Given the description of an element on the screen output the (x, y) to click on. 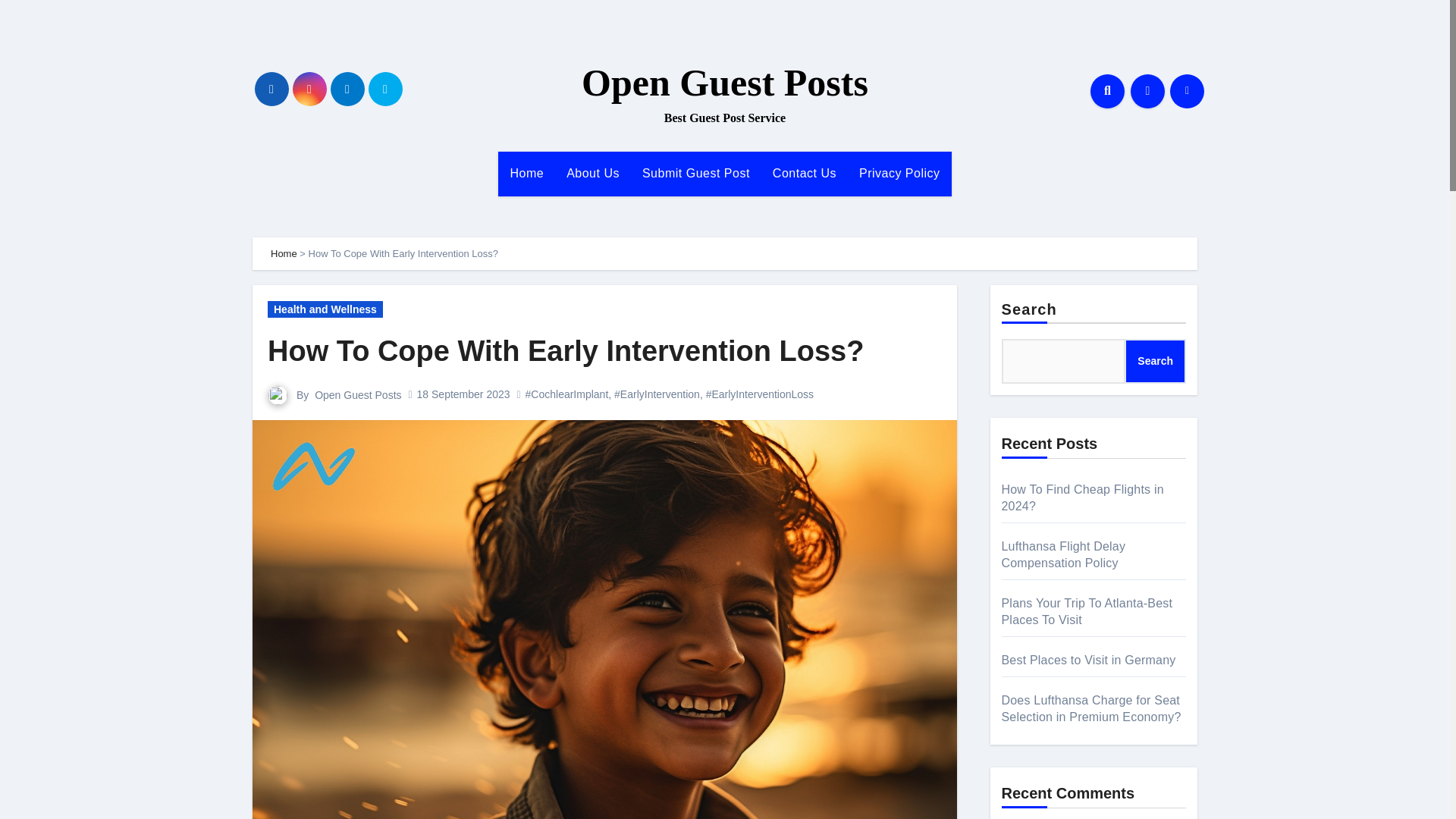
Submit Guest Post (695, 173)
18 September 2023 (463, 394)
Permalink to: How To Cope With Early Intervention Loss? (565, 350)
Home (525, 173)
Open Guest Posts (723, 82)
Contact Us (804, 173)
About Us (592, 173)
About Us (592, 173)
Privacy Policy (899, 173)
Privacy Policy (899, 173)
Health and Wellness (324, 309)
Home (283, 253)
Contact Us (804, 173)
Open Guest Posts (357, 394)
Submit Guest Post (695, 173)
